Given the description of an element on the screen output the (x, y) to click on. 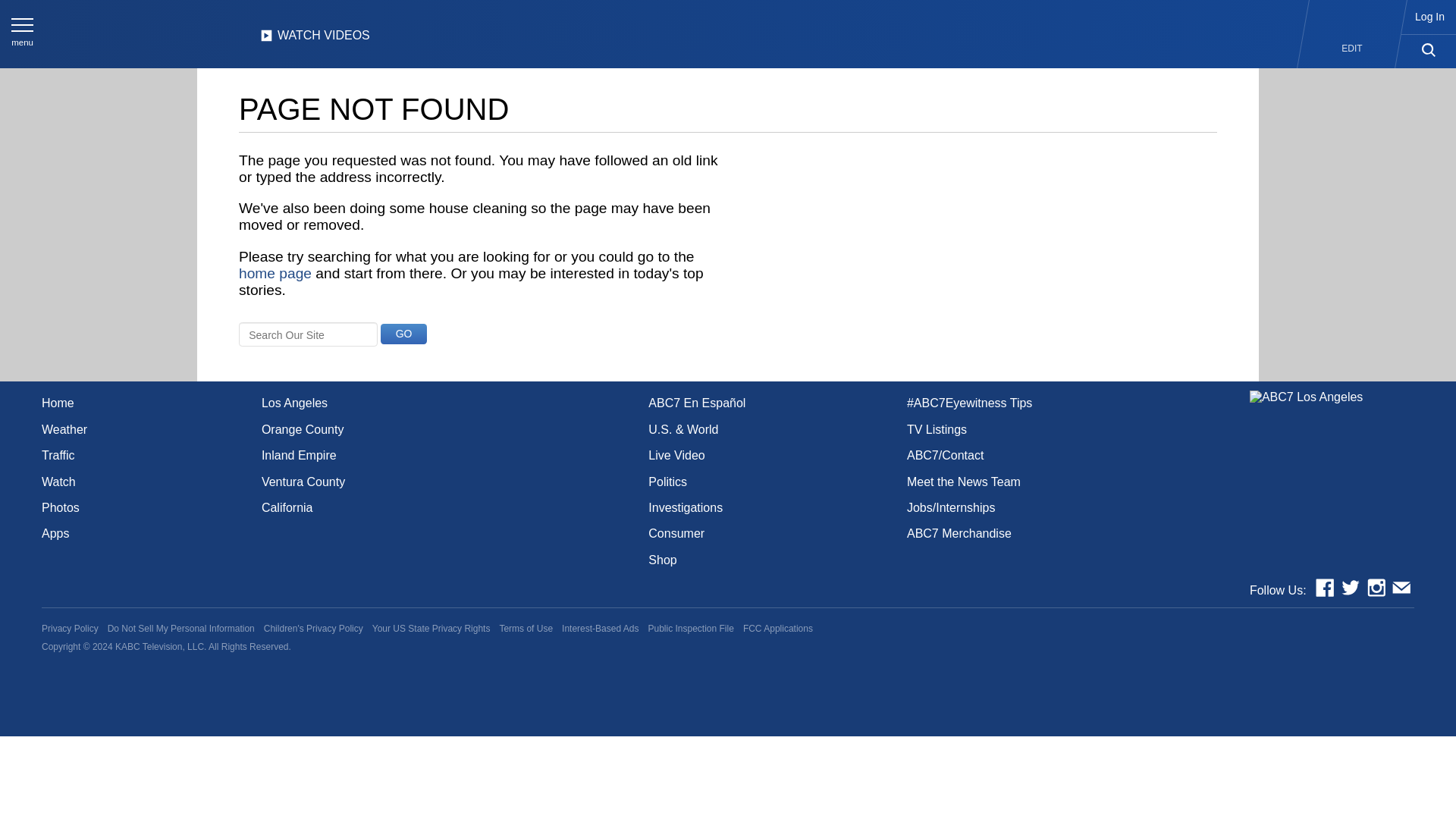
WATCH VIDEOS (314, 39)
EDIT (1350, 48)
